Given the description of an element on the screen output the (x, y) to click on. 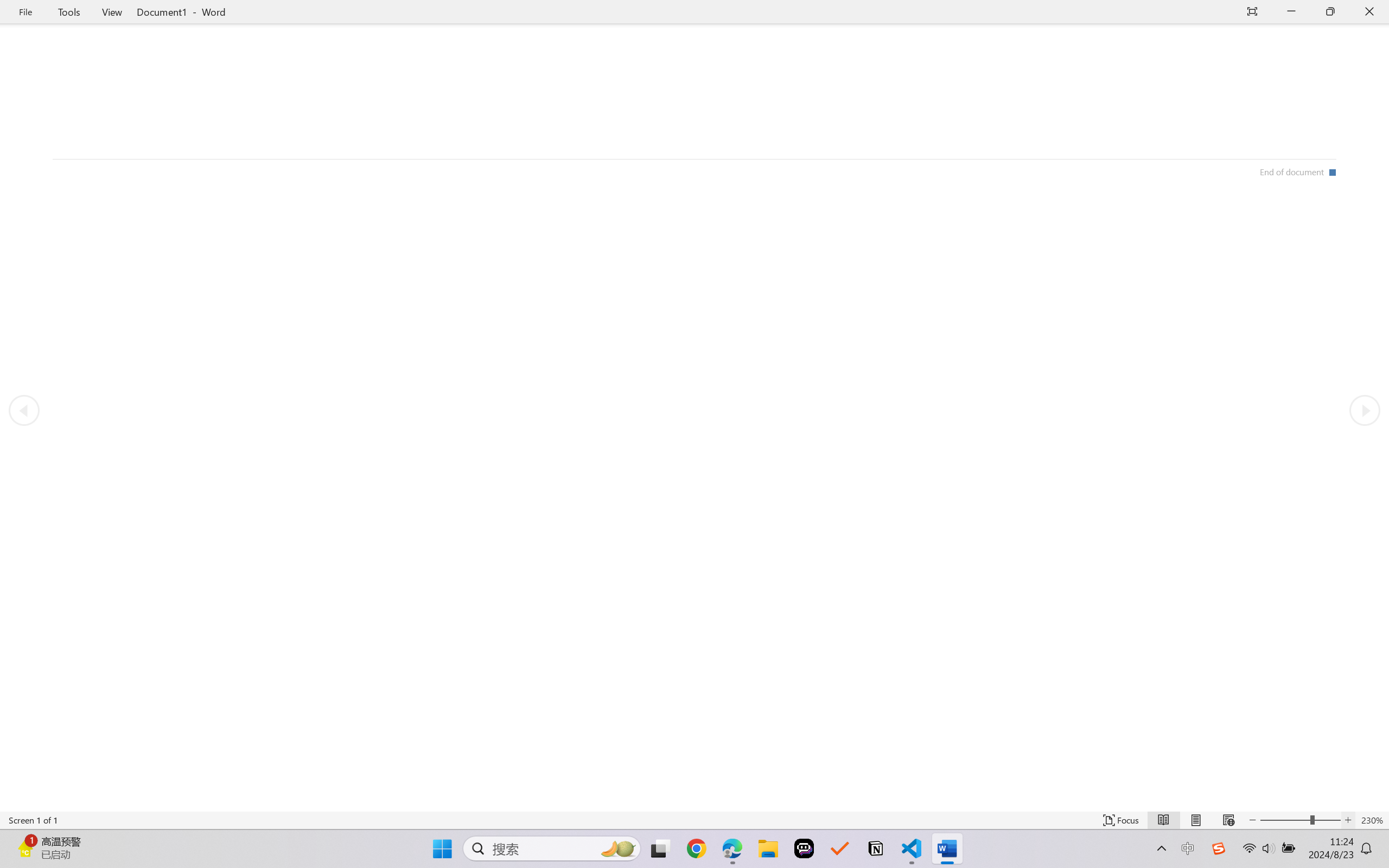
Text Size (1300, 819)
Auto-hide Reading Toolbar (1252, 11)
